Given the description of an element on the screen output the (x, y) to click on. 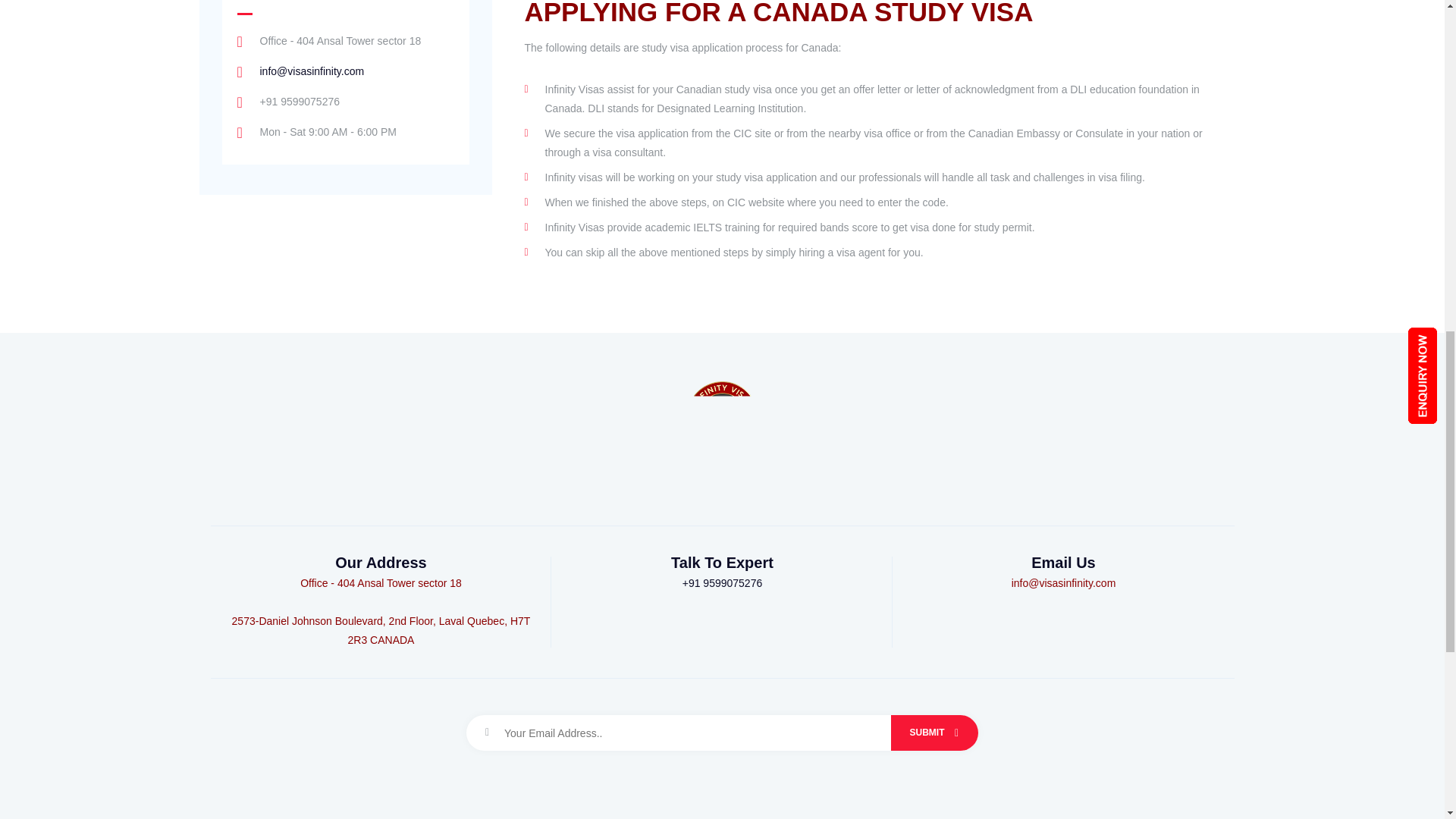
SUBMIT (934, 732)
SUBMIT (934, 732)
